Given the description of an element on the screen output the (x, y) to click on. 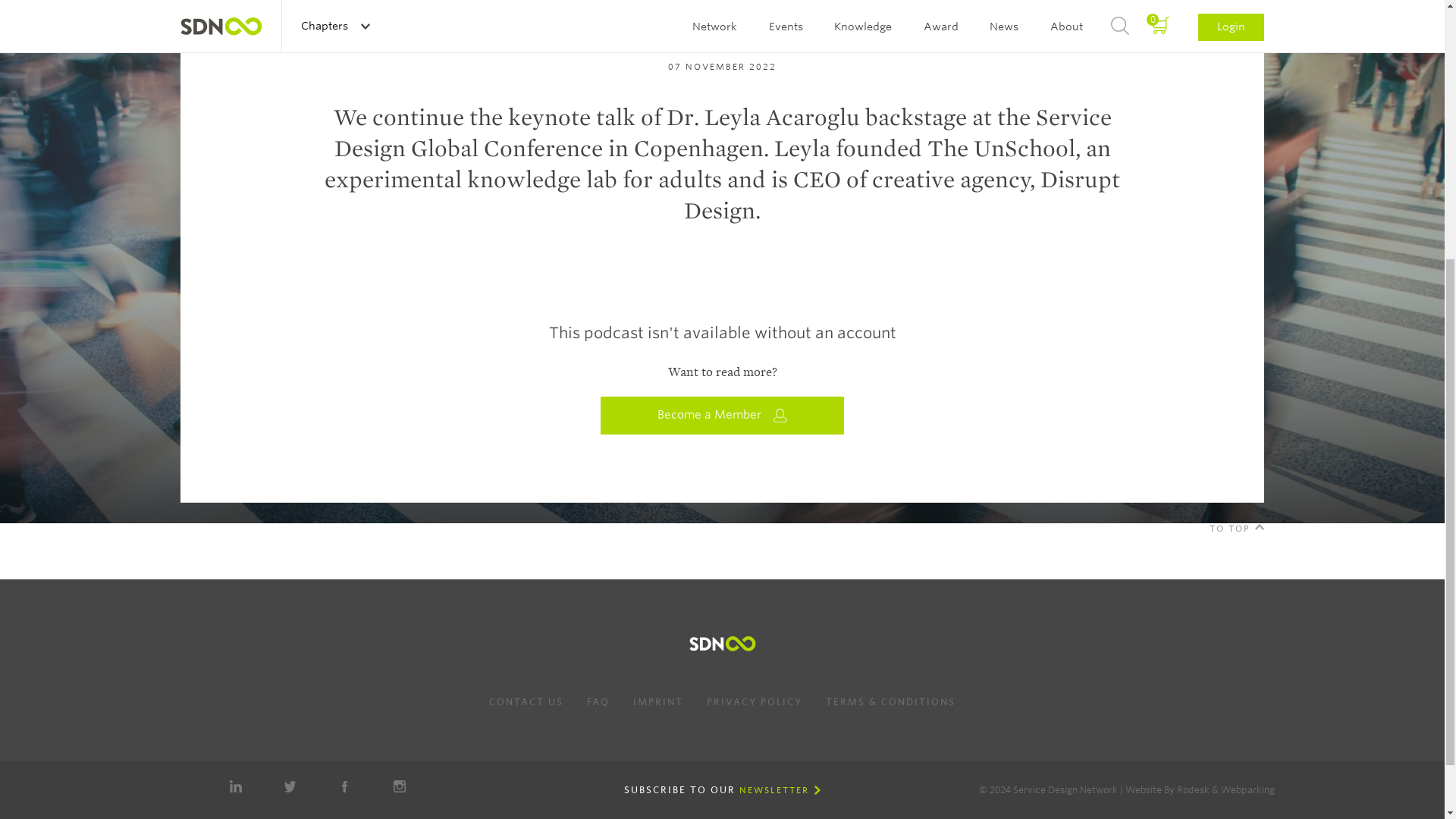
Imprint (657, 701)
Contact us (526, 701)
FAQ (598, 701)
Privacy Policy (754, 701)
